Given the description of an element on the screen output the (x, y) to click on. 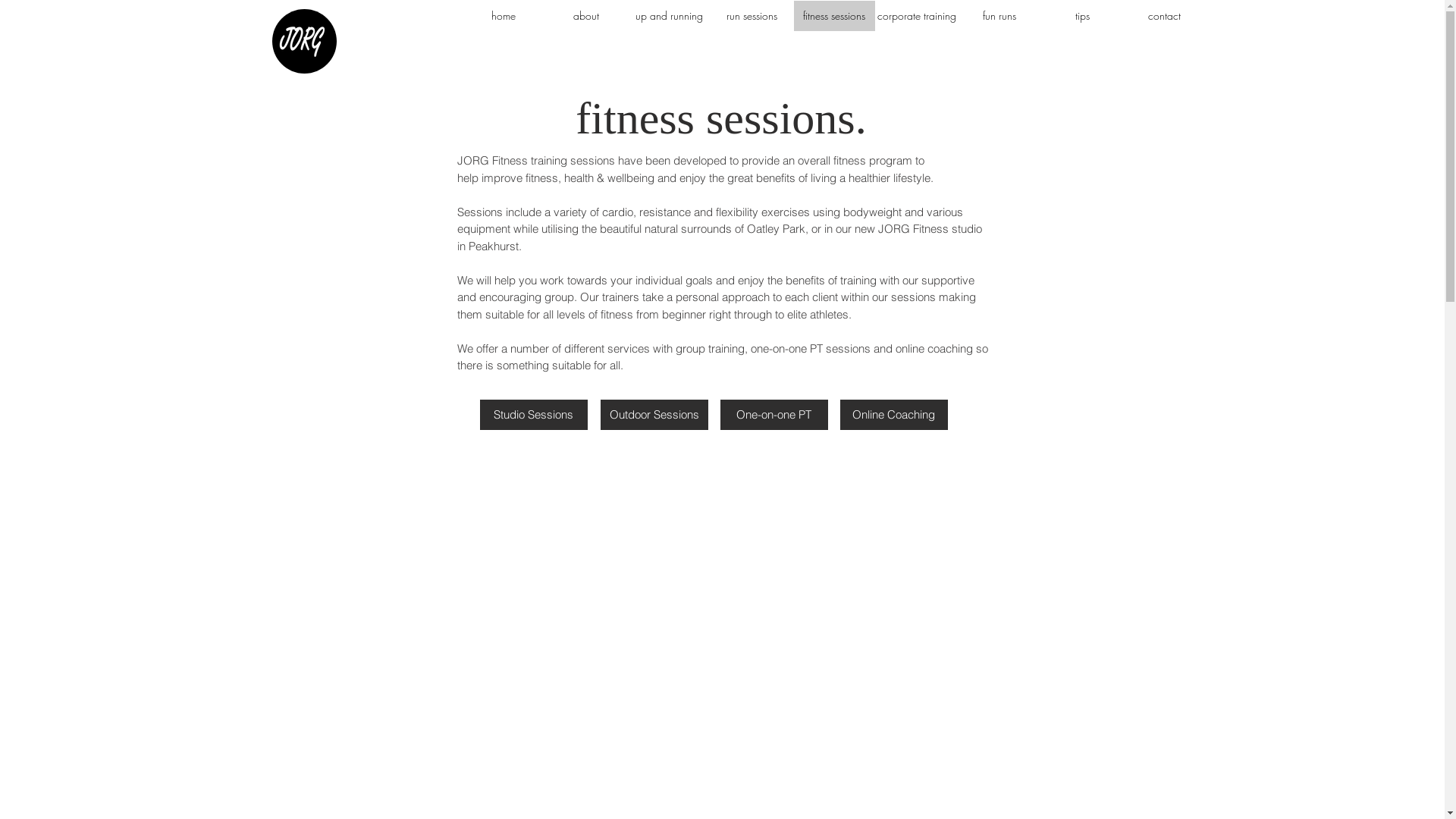
fitness sessions Element type: text (833, 15)
Outdoor Sessions Element type: text (654, 413)
home Element type: text (502, 15)
run sessions Element type: text (751, 15)
about Element type: text (586, 15)
corporate training Element type: text (916, 15)
up and running Element type: text (668, 15)
Online Coaching Element type: text (893, 413)
contact Element type: text (1163, 15)
Studio Sessions Element type: text (532, 413)
tips Element type: text (1082, 15)
fun runs Element type: text (998, 15)
One-on-one PT Element type: text (774, 413)
